Given the description of an element on the screen output the (x, y) to click on. 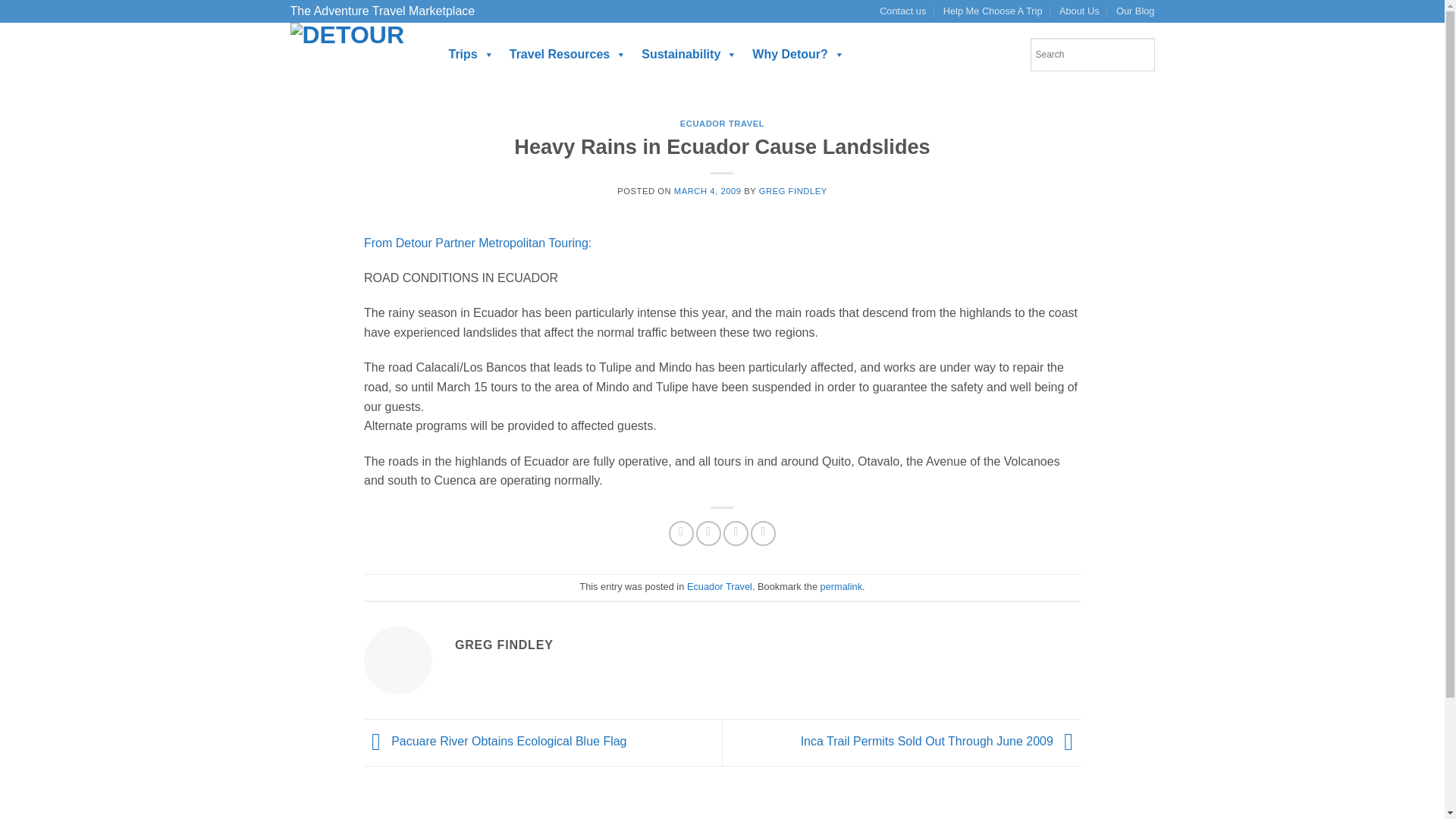
Detour - The Adventure Travel Marketplace (353, 53)
About Us (1079, 11)
Share on Facebook (681, 533)
Travel Resources (568, 54)
Share on Twitter (707, 533)
Our Blog (1135, 11)
Contact us (902, 11)
Sustainability (688, 54)
Trips (471, 54)
Permalink to Heavy Rains in Ecuador Cause Landslides (841, 586)
